Given the description of an element on the screen output the (x, y) to click on. 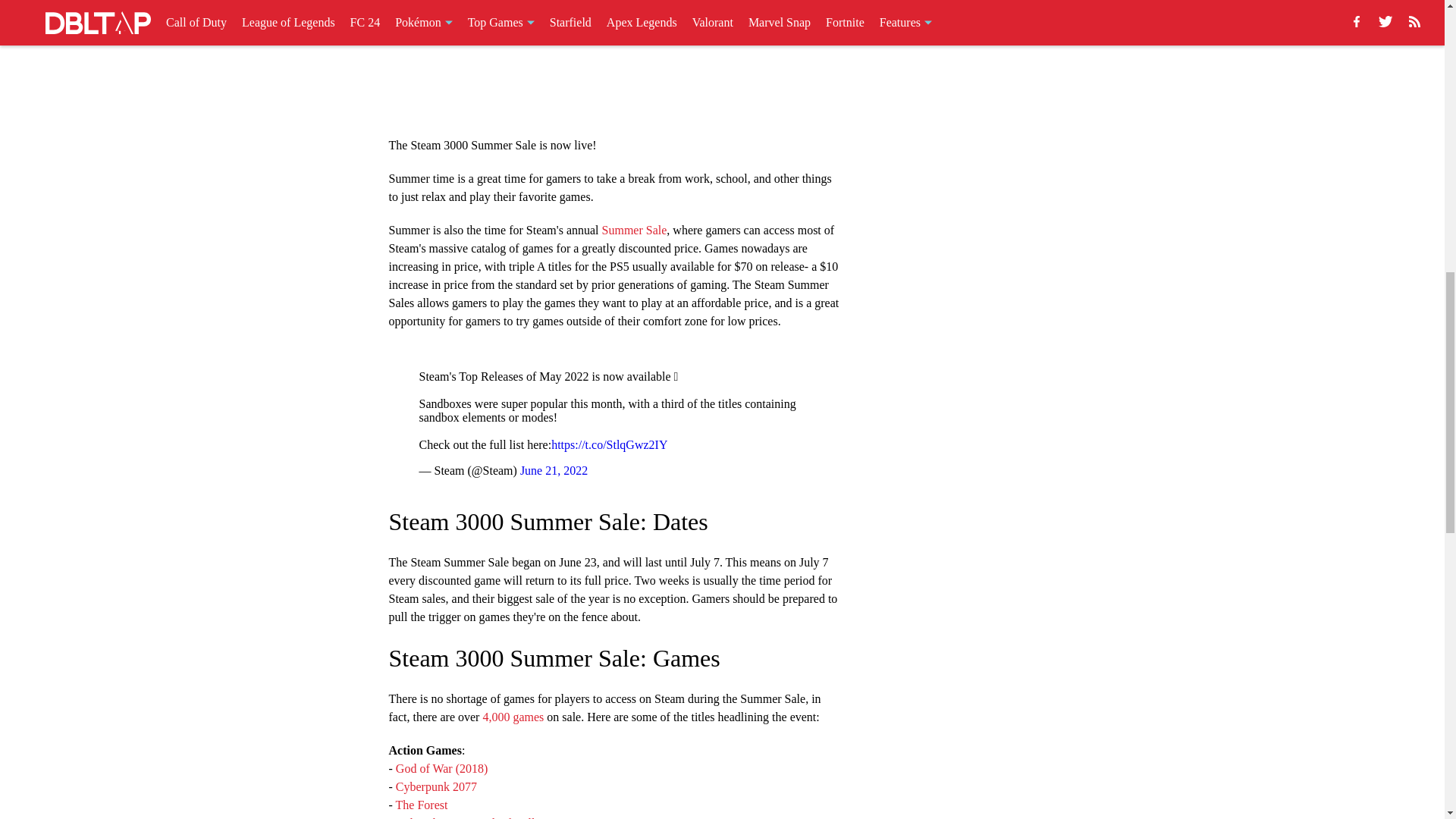
June 21, 2022 (553, 470)
4,000 games (514, 716)
Summer Sale (634, 228)
Cyberpunk 2077 (435, 785)
Halo: The Master Chief Collection (478, 817)
The Forest (422, 803)
